Given the description of an element on the screen output the (x, y) to click on. 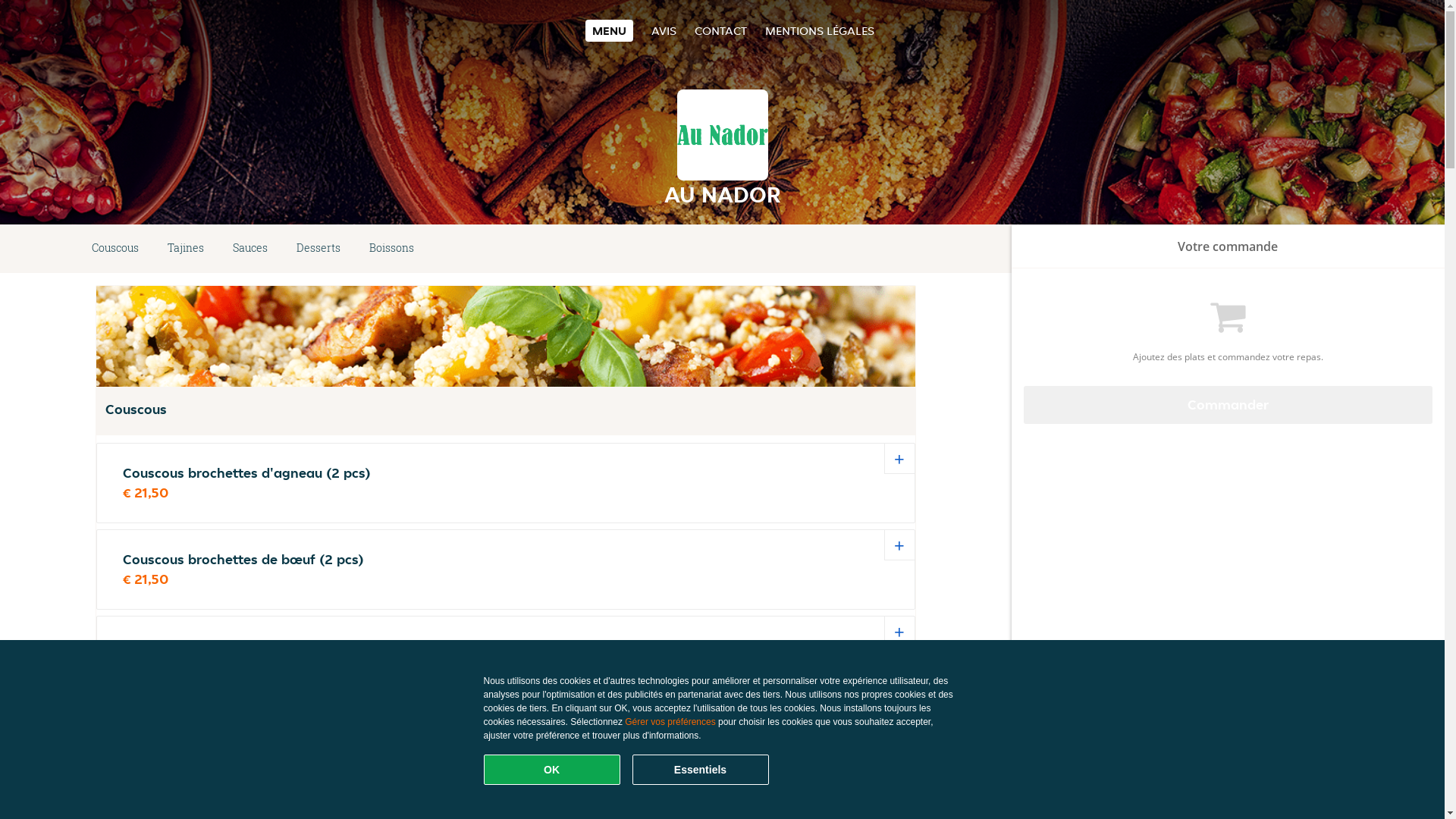
Tajines Element type: text (185, 248)
MENU Element type: text (609, 30)
Essentiels Element type: text (700, 769)
AVIS Element type: text (663, 30)
Desserts Element type: text (318, 248)
Sauces Element type: text (250, 248)
Boissons Element type: text (391, 248)
Couscous Element type: text (115, 248)
CONTACT Element type: text (720, 30)
Commander Element type: text (1228, 404)
OK Element type: text (551, 769)
